Given the description of an element on the screen output the (x, y) to click on. 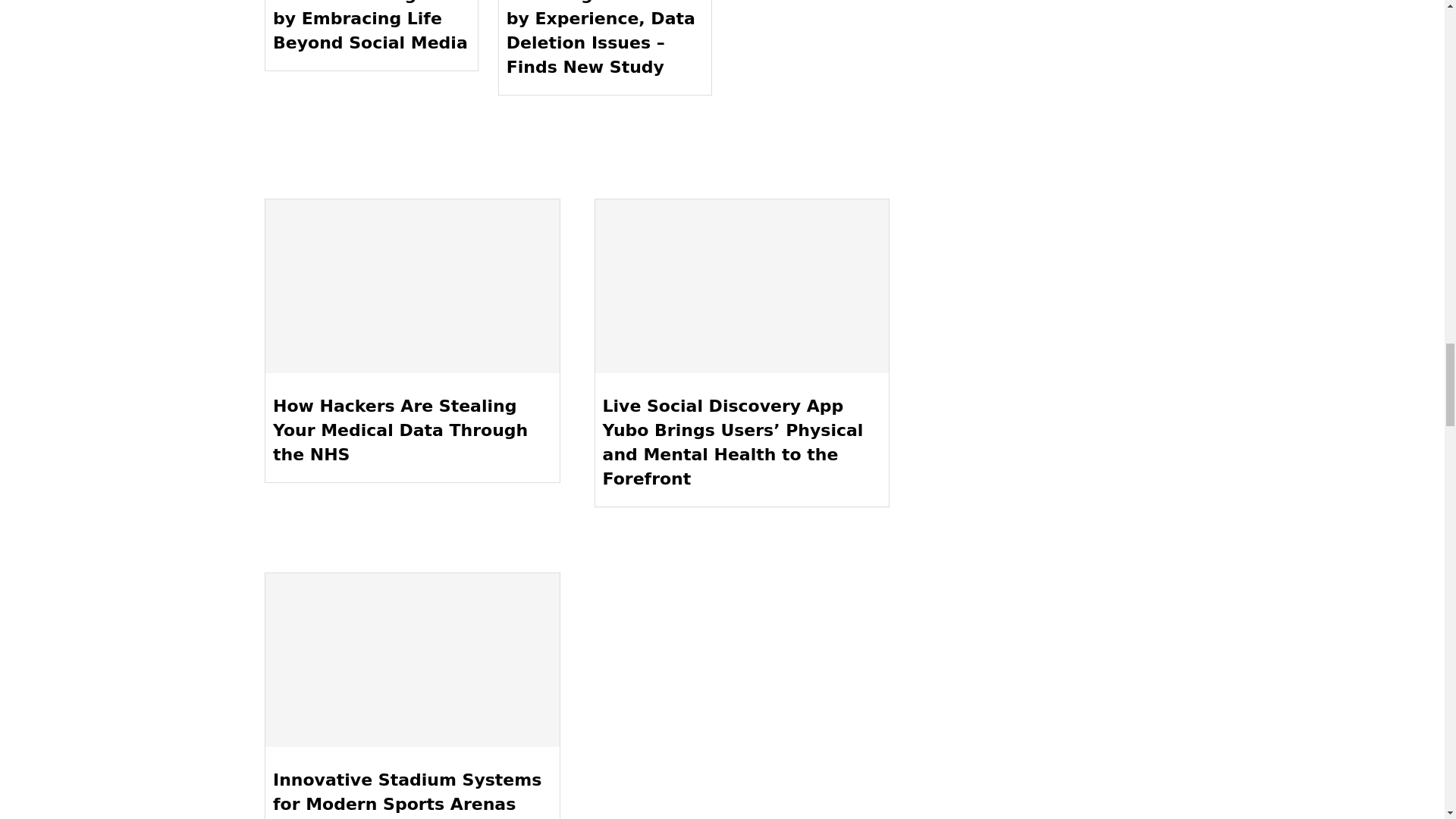
How Hackers Are Stealing Your Medical Data Through the NHS (411, 286)
